Given the description of an element on the screen output the (x, y) to click on. 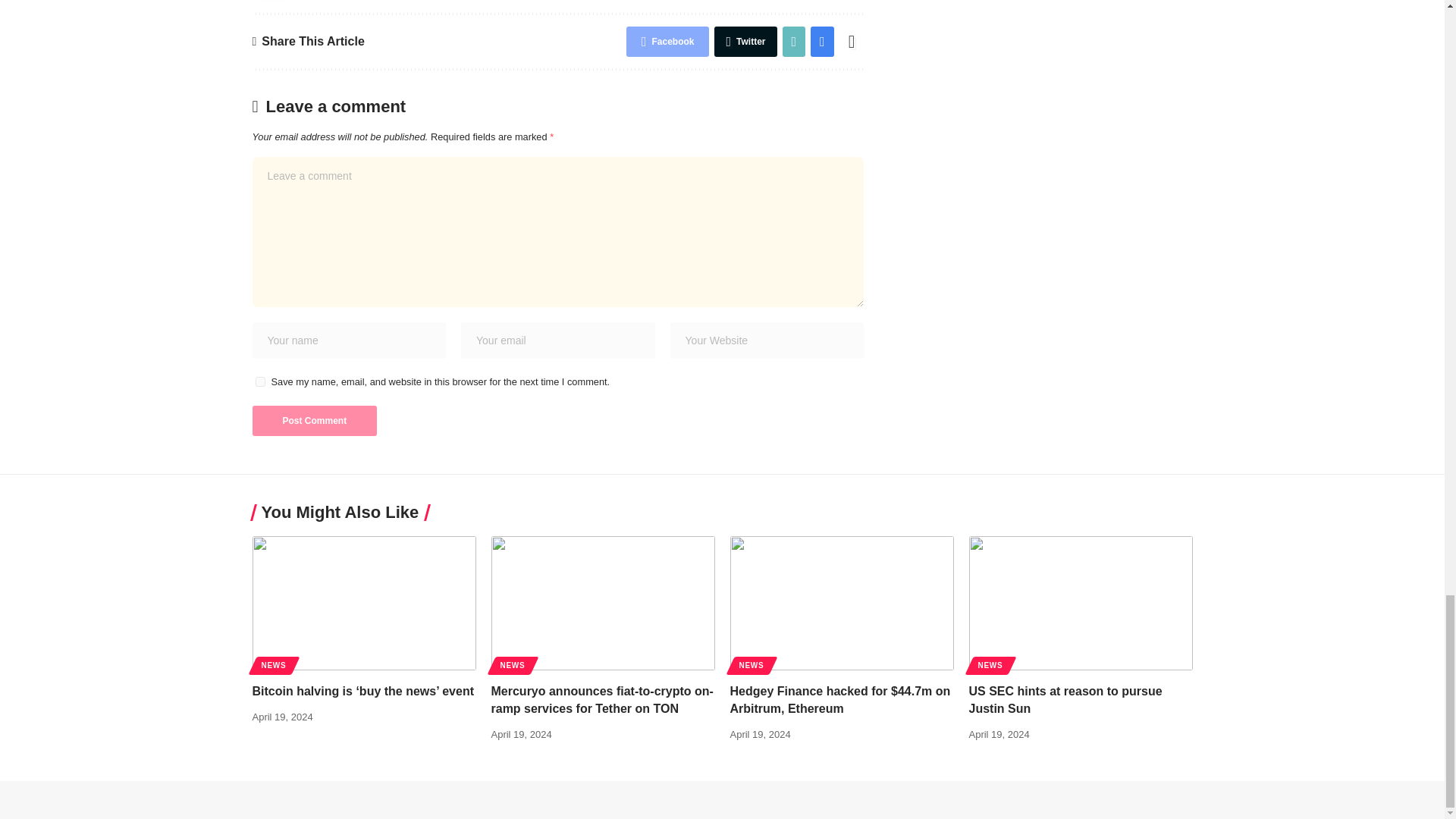
Post Comment (314, 420)
US SEC hints at reason to pursue Justin Sun (1080, 603)
Facebook (668, 41)
Twitter (745, 41)
yes (259, 381)
